Given the description of an element on the screen output the (x, y) to click on. 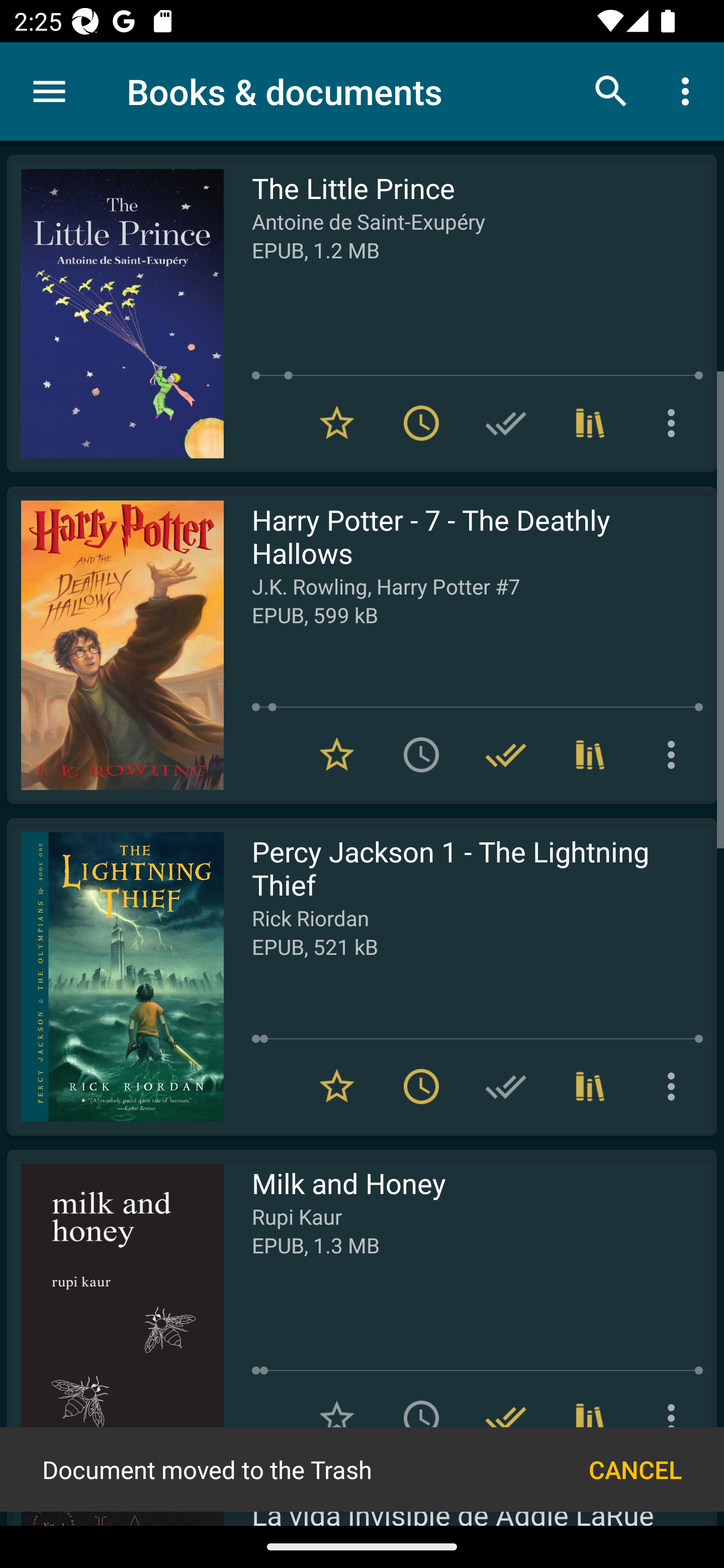
Menu (49, 91)
Search books & documents (611, 90)
More options (688, 90)
Read The Little Prince (115, 313)
Remove from Favorites (336, 423)
Remove from To read (421, 423)
Add to Have read (505, 423)
Collections (1) (590, 423)
More options (674, 423)
Read Harry Potter - 7 - The Deathly Hallows (115, 645)
Remove from Favorites (336, 753)
Add to To read (421, 753)
Remove from Have read (505, 753)
Collections (3) (590, 753)
More options (674, 753)
Read Percy Jackson 1 - The Lightning Thief (115, 976)
Remove from Favorites (336, 1086)
Remove from To read (421, 1086)
Add to Have read (505, 1086)
Collections (1) (590, 1086)
More options (674, 1086)
Read Milk and Honey (115, 1308)
Add to Favorites (336, 1417)
Add to To read (421, 1417)
Remove from Have read (505, 1417)
Collections (4) (590, 1417)
More options (674, 1417)
CANCEL (635, 1468)
